Given the description of an element on the screen output the (x, y) to click on. 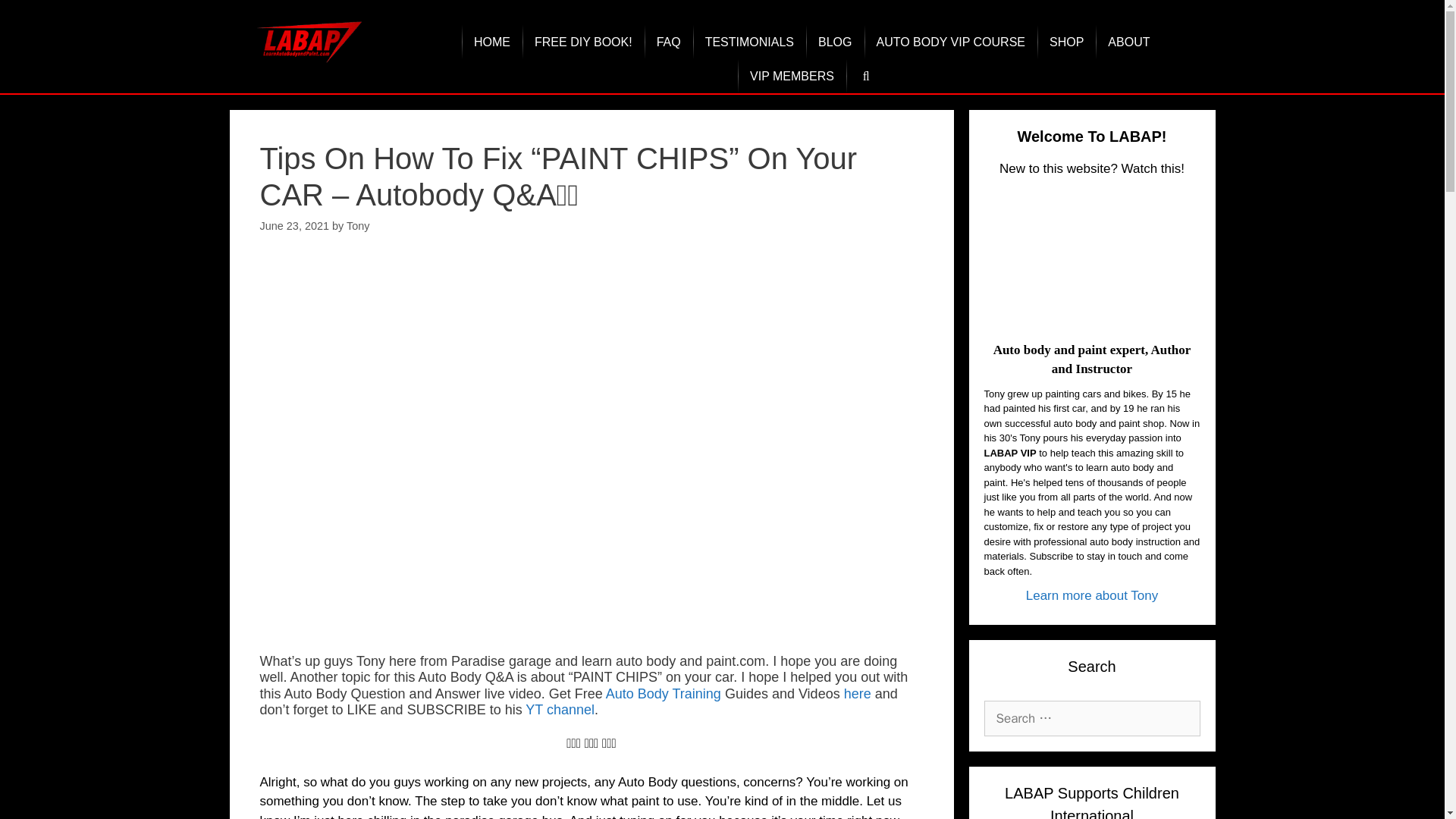
Auto Body Training (662, 693)
YT channel (559, 709)
View all posts by Tony (357, 225)
FREE DIY BOOK! (583, 41)
Search (35, 18)
Learn more about Tony (1092, 595)
VIP MEMBERS (791, 75)
Tony (357, 225)
FAQ (669, 41)
TESTIMONIALS (749, 41)
Search for: (1091, 719)
HOME (491, 41)
BLOG (834, 41)
AUTO BODY VIP COURSE (951, 41)
here (857, 693)
